Given the description of an element on the screen output the (x, y) to click on. 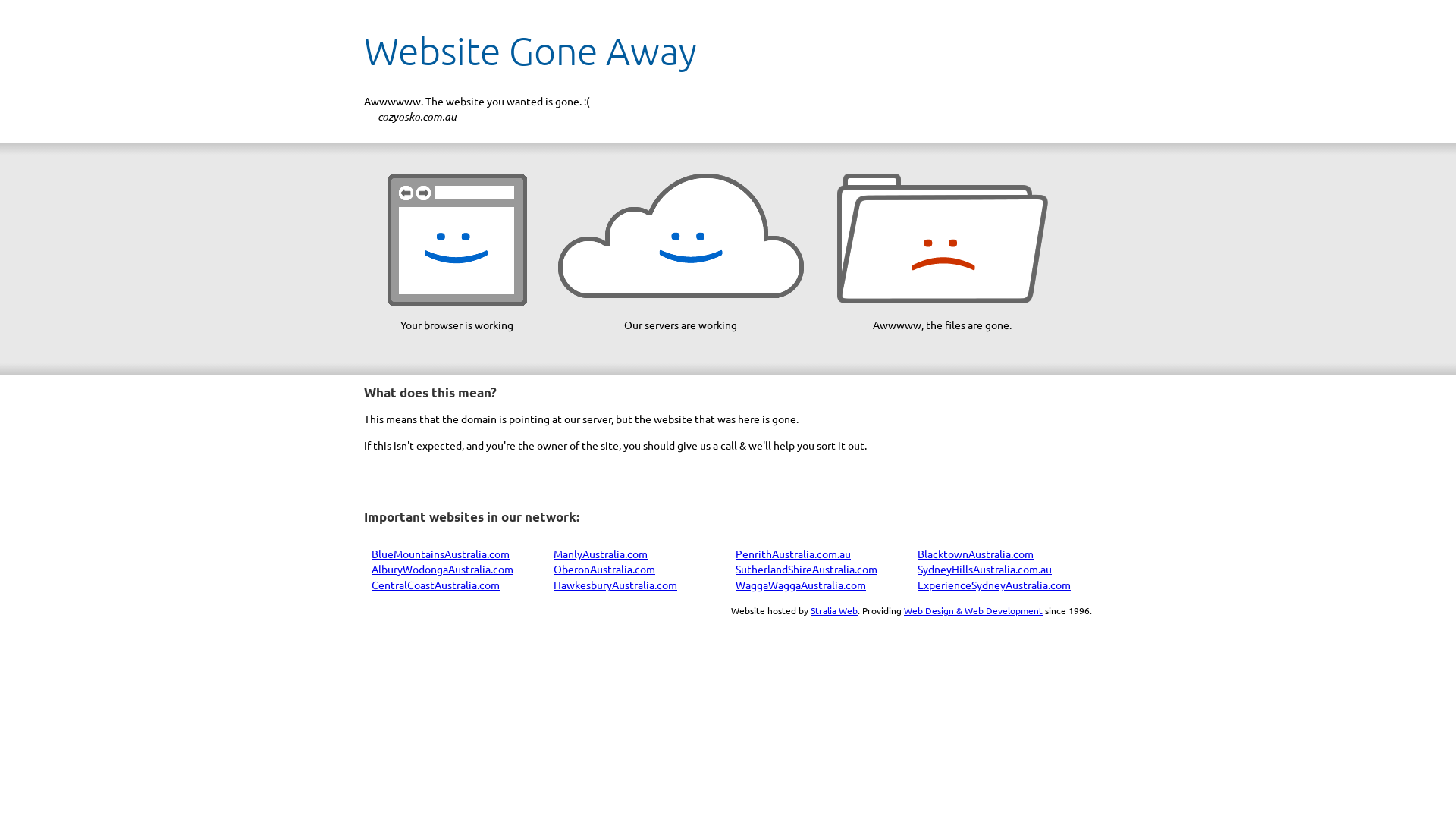
BlacktownAustralia.com Element type: text (975, 553)
WaggaWaggaAustralia.com Element type: text (800, 584)
SydneyHillsAustralia.com.au Element type: text (984, 568)
ManlyAustralia.com Element type: text (600, 553)
SutherlandShireAustralia.com Element type: text (806, 568)
PenrithAustralia.com.au Element type: text (792, 553)
Stralia Web Element type: text (833, 610)
OberonAustralia.com Element type: text (604, 568)
Web Design & Web Development Element type: text (972, 610)
AlburyWodongaAustralia.com Element type: text (442, 568)
BlueMountainsAustralia.com Element type: text (440, 553)
ExperienceSydneyAustralia.com Element type: text (993, 584)
CentralCoastAustralia.com Element type: text (435, 584)
HawkesburyAustralia.com Element type: text (615, 584)
